Given the description of an element on the screen output the (x, y) to click on. 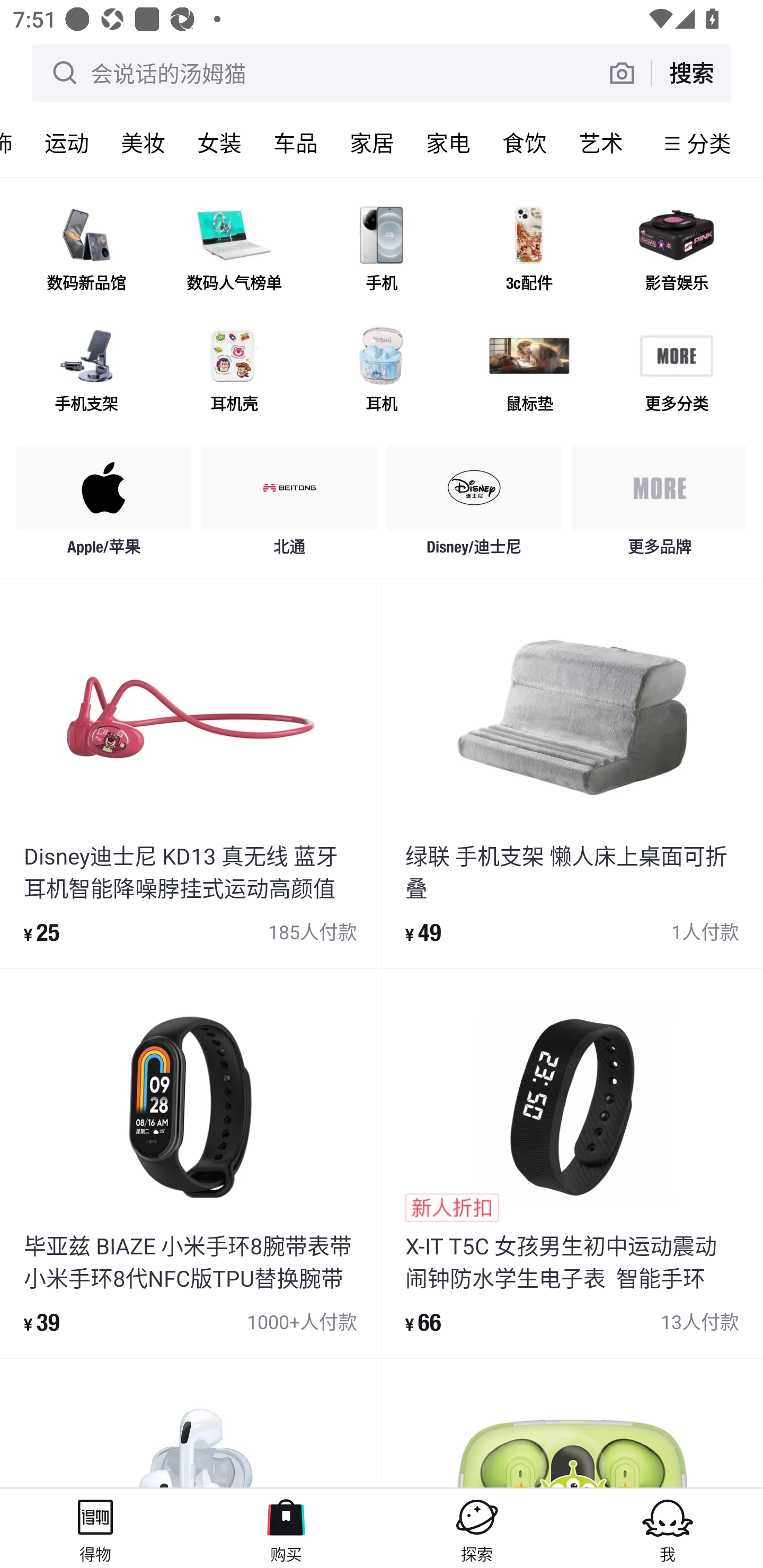
搜索 (690, 72)
运动 (66, 143)
美妆 (143, 143)
女装 (219, 143)
车品 (295, 143)
家居 (372, 143)
家电 (448, 143)
食饮 (524, 143)
艺术 (601, 143)
分类 (708, 143)
数码新品馆 (86, 251)
数码人气榜单 (233, 251)
手机 (381, 251)
3c配件 (528, 251)
影音娱乐 (676, 251)
手机支架 (86, 372)
耳机壳 (233, 372)
耳机 (381, 372)
鼠标垫 (528, 372)
更多分类 (676, 372)
Apple/苹果 (103, 505)
北通 (288, 505)
Disney/迪士尼 (473, 505)
更多品牌 (658, 505)
product_item 绿联 手机支架 懒人床上桌面可折
叠 ¥ 49 1人付款 (572, 773)
得物 (95, 1528)
购买 (285, 1528)
探索 (476, 1528)
我 (667, 1528)
